Given the description of an element on the screen output the (x, y) to click on. 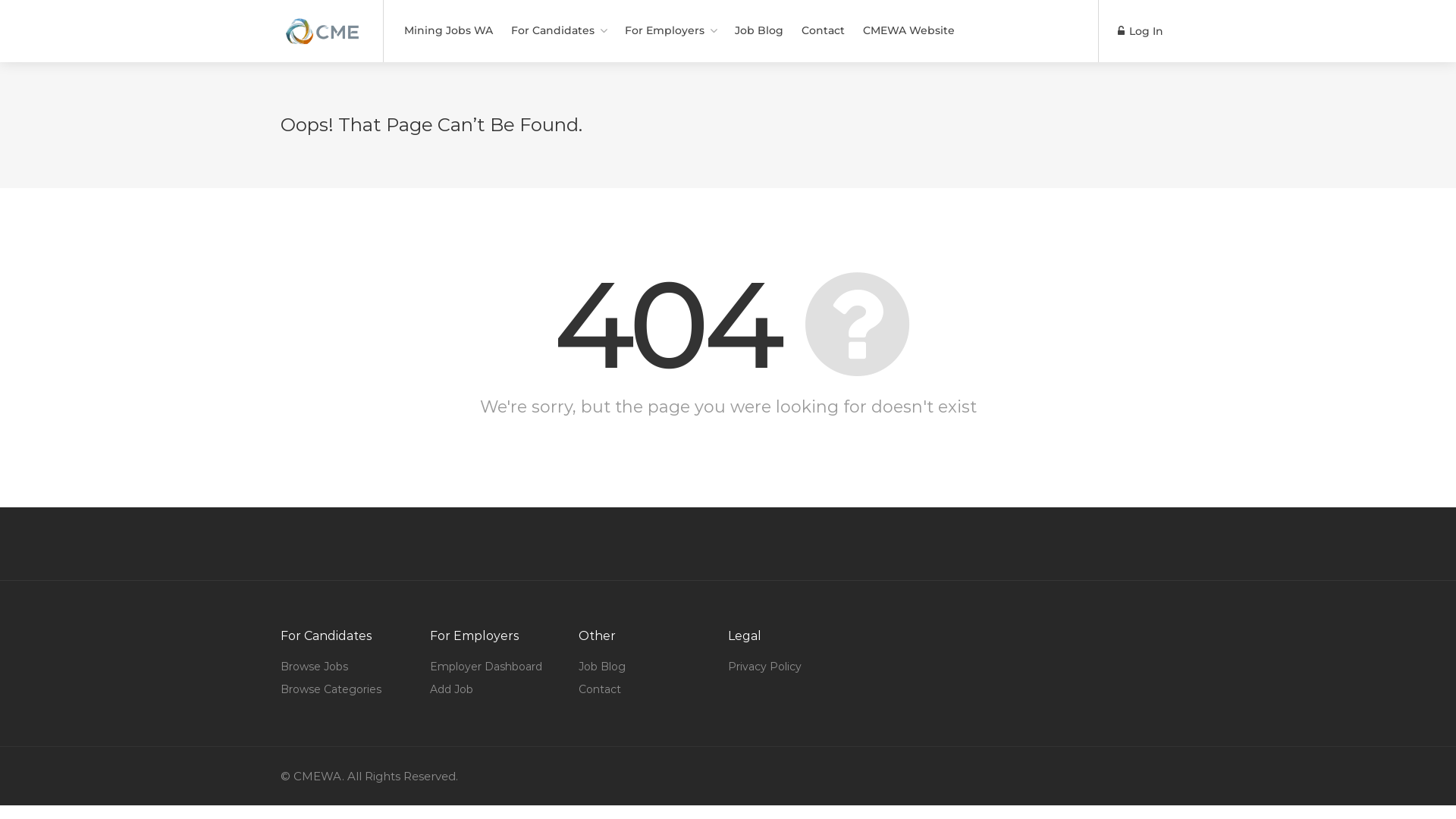
CMEWA Website Element type: text (908, 30)
Add Job Element type: text (451, 689)
Job Blog Element type: text (758, 30)
Log In Element type: text (1140, 31)
Browse Jobs Element type: text (314, 666)
Employer Dashboard Element type: text (485, 666)
Contact Element type: text (823, 30)
Contact Element type: text (599, 689)
For Employers Element type: text (670, 30)
For Candidates Element type: text (558, 30)
Job Blog Element type: text (601, 666)
Mining Jobs WA Element type: text (448, 30)
Privacy Policy Element type: text (764, 666)
Resource Jobs WA Element type: hover (322, 22)
Browse Categories Element type: text (330, 689)
